Given the description of an element on the screen output the (x, y) to click on. 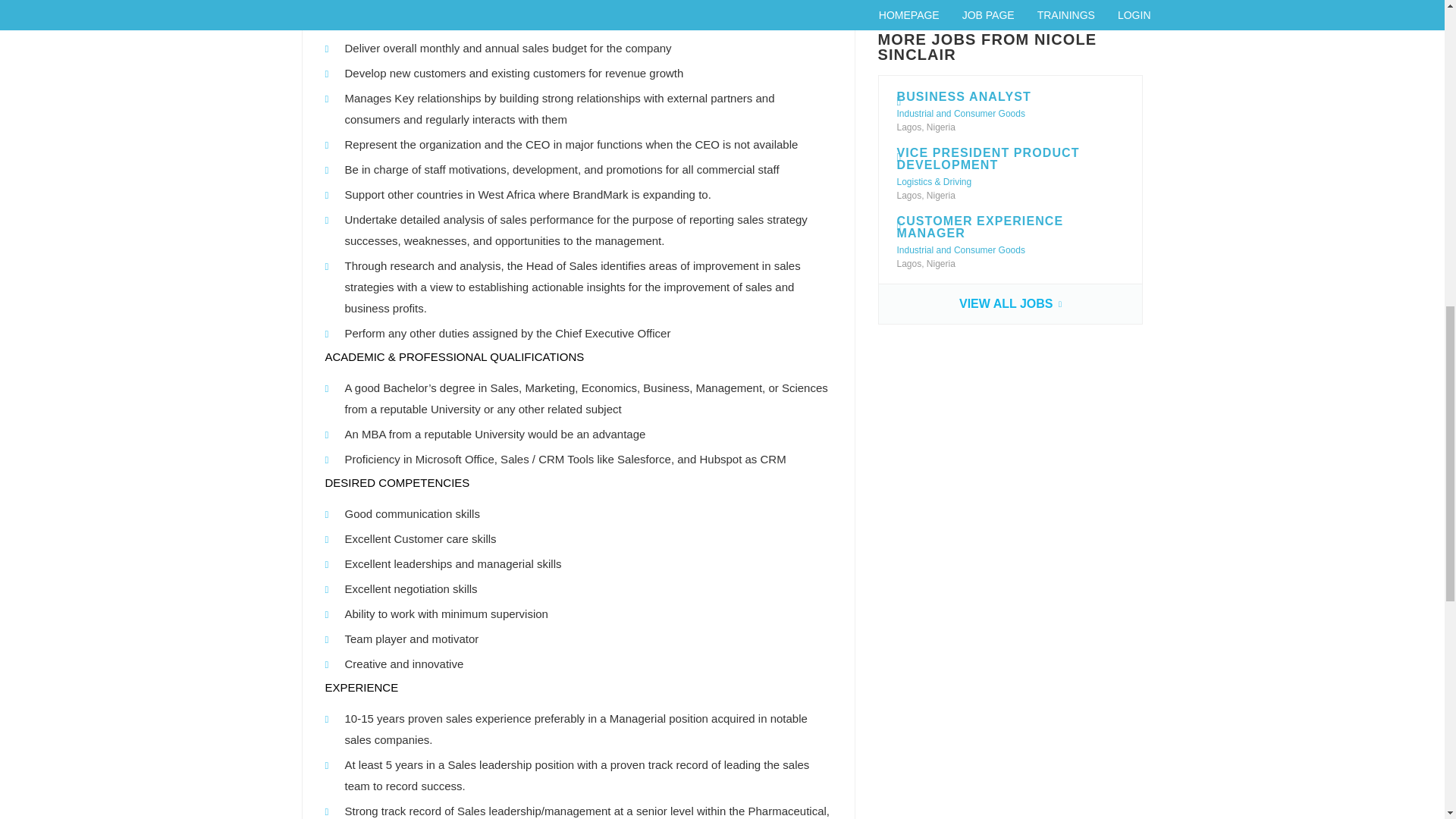
Vice President Product Development (987, 158)
VIEW ALL JOBS (1009, 304)
Industrial and Consumer Goods (960, 249)
BUSINESS ANALYST (963, 96)
Customer Experience Manager (1009, 304)
Business Analyst (963, 96)
Customer Experience Manager (979, 226)
VICE PRESIDENT PRODUCT DEVELOPMENT (987, 158)
CUSTOMER EXPERIENCE MANAGER (979, 226)
Industrial and Consumer Goods (960, 113)
